Given the description of an element on the screen output the (x, y) to click on. 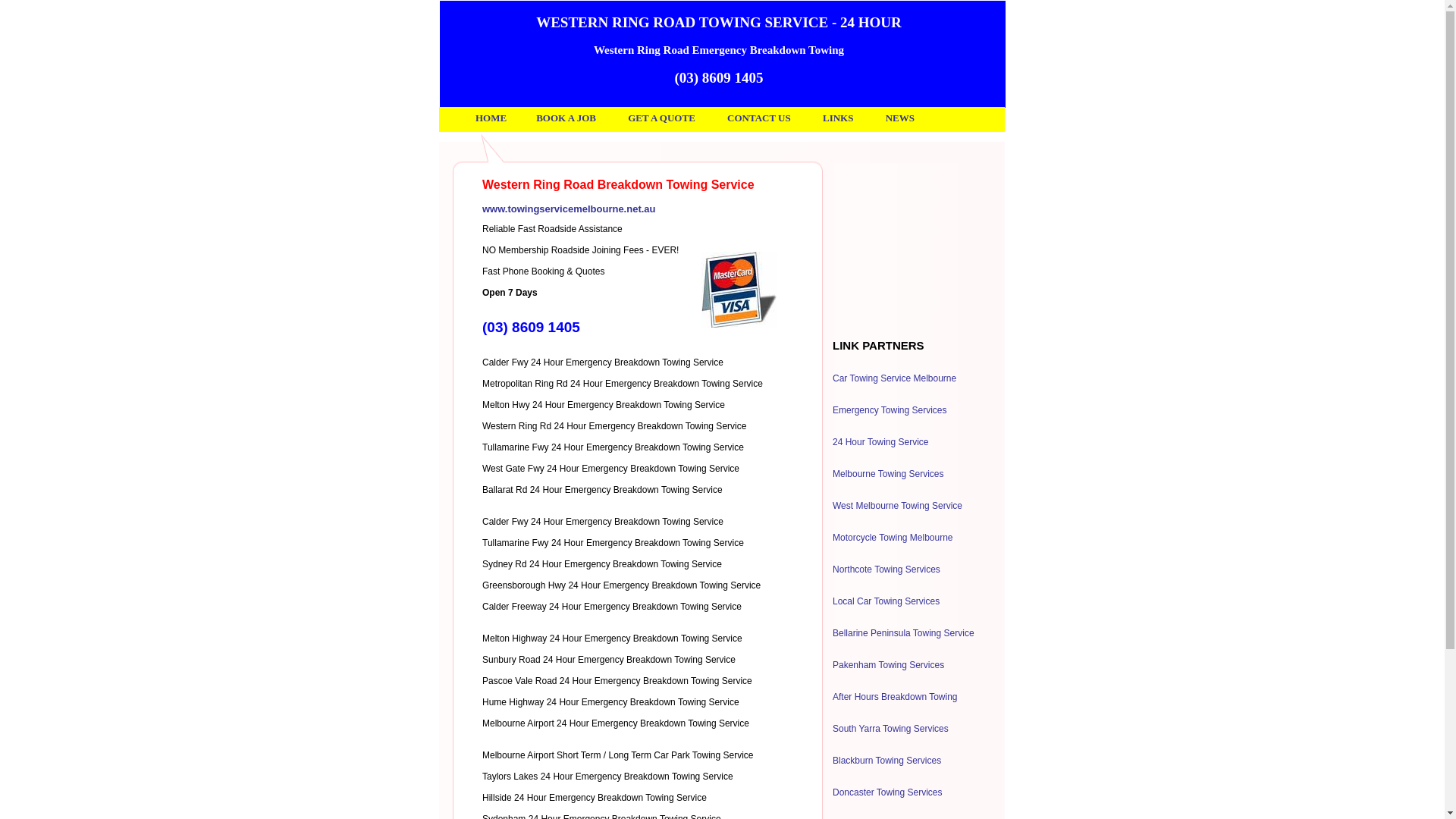
www.towingservicemelbourne.net.au Element type: text (568, 208)
Blackburn Towing Services Element type: text (886, 760)
Northcote Towing Services Element type: text (886, 569)
Car Towing Service Melbourne Element type: text (894, 378)
Melbourne Towing Services Element type: text (888, 473)
After Hours Breakdown Towing Element type: text (894, 696)
West Melbourne Towing Service Element type: text (897, 505)
Emergency Towing Services Element type: text (889, 409)
Motorcycle Towing Melbourne Element type: text (892, 537)
NEWS Element type: text (899, 117)
HOME Element type: text (490, 117)
Local Car Towing Services Element type: text (885, 601)
CONTACT US Element type: text (758, 117)
LINKS Element type: text (837, 117)
Doncaster Towing Services Element type: text (887, 792)
South Yarra Towing Services Element type: text (890, 728)
Pakenham Towing Services Element type: text (888, 664)
BOOK A JOB Element type: text (566, 117)
Bellarine Peninsula Towing Service Element type: text (903, 632)
GET A QUOTE Element type: text (661, 117)
24 Hour Towing Service Element type: text (880, 441)
